Given the description of an element on the screen output the (x, y) to click on. 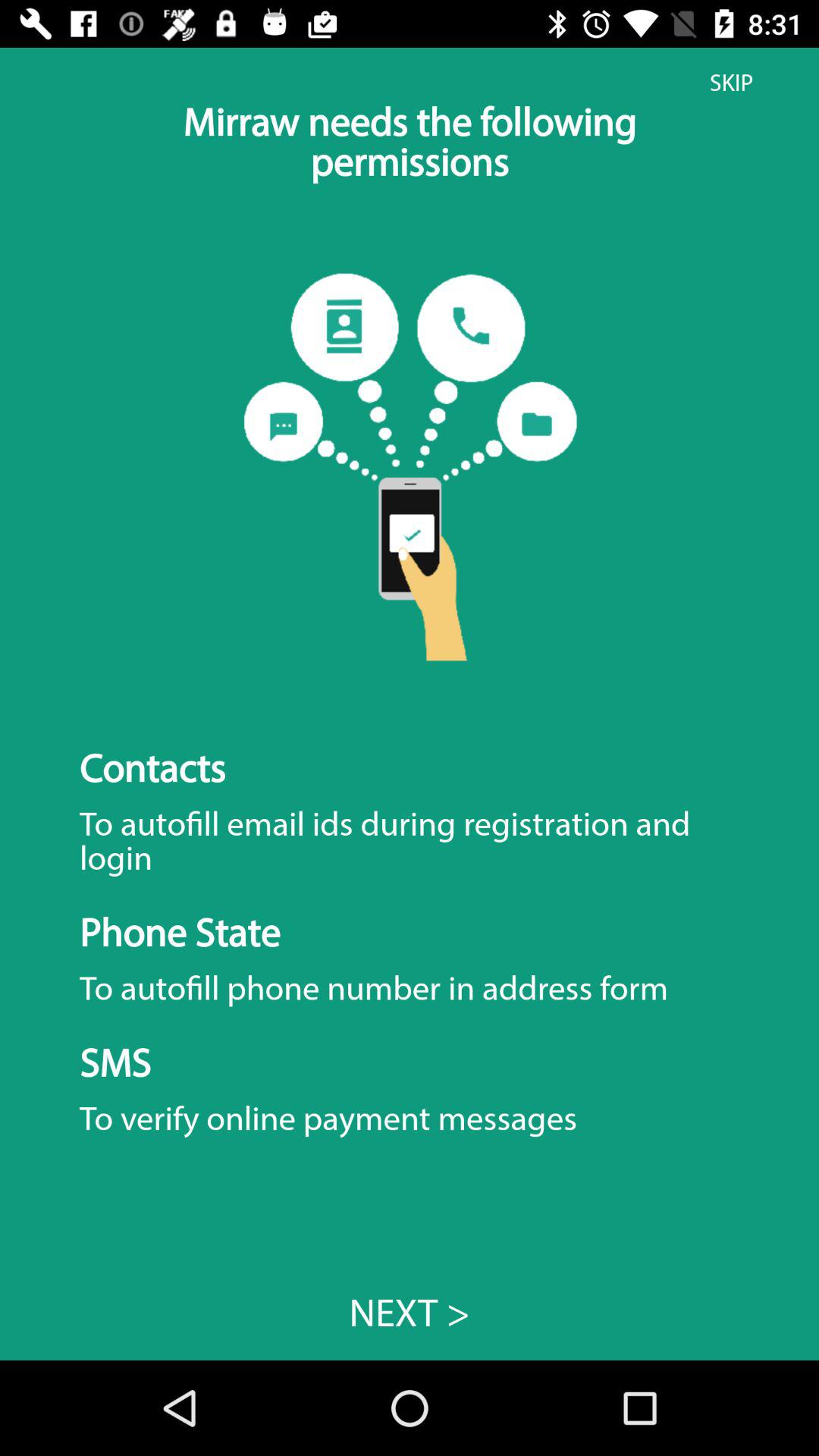
open icon at the top right corner (731, 83)
